Given the description of an element on the screen output the (x, y) to click on. 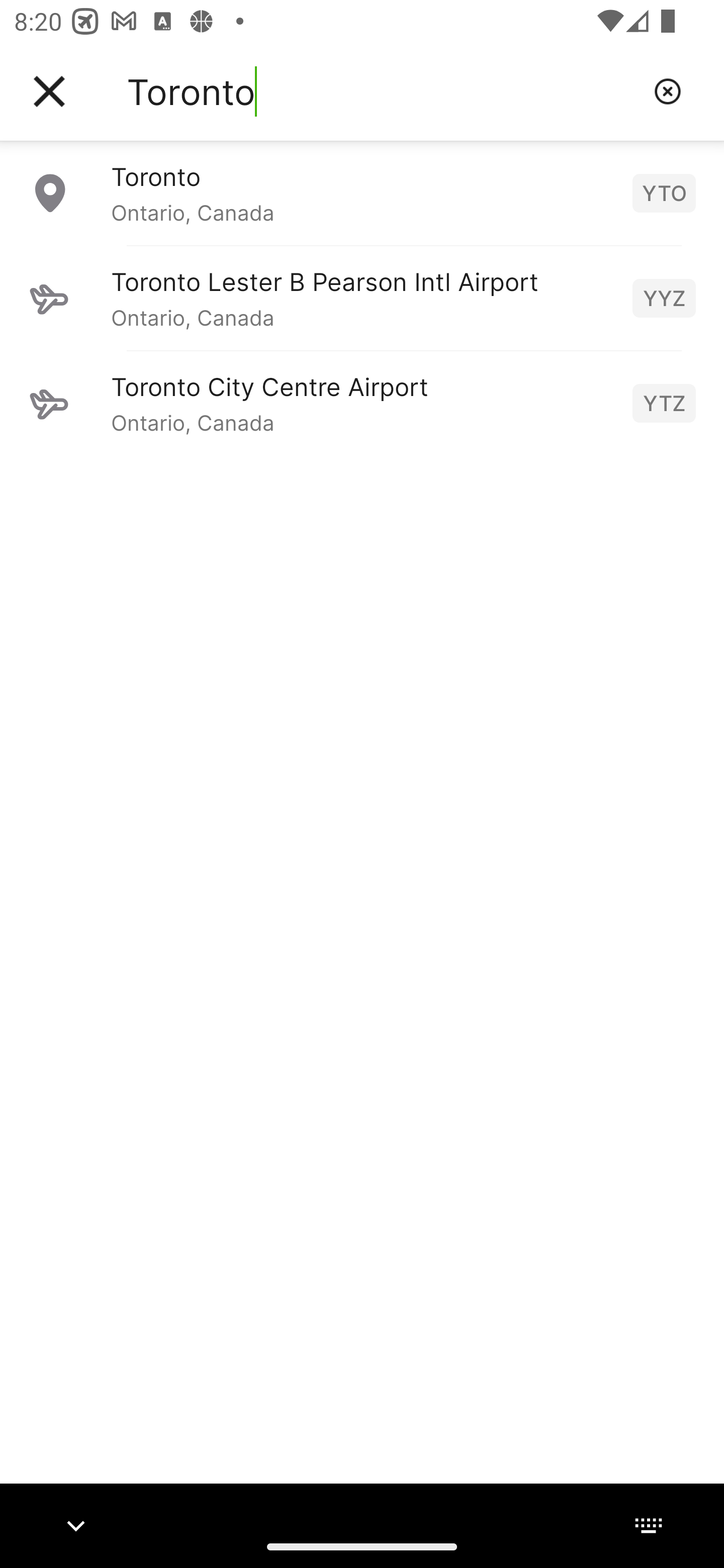
Toronto (382, 91)
Toronto Ontario, Canada YTO (362, 192)
Toronto City Centre Airport Ontario, Canada YTZ (362, 402)
